Given the description of an element on the screen output the (x, y) to click on. 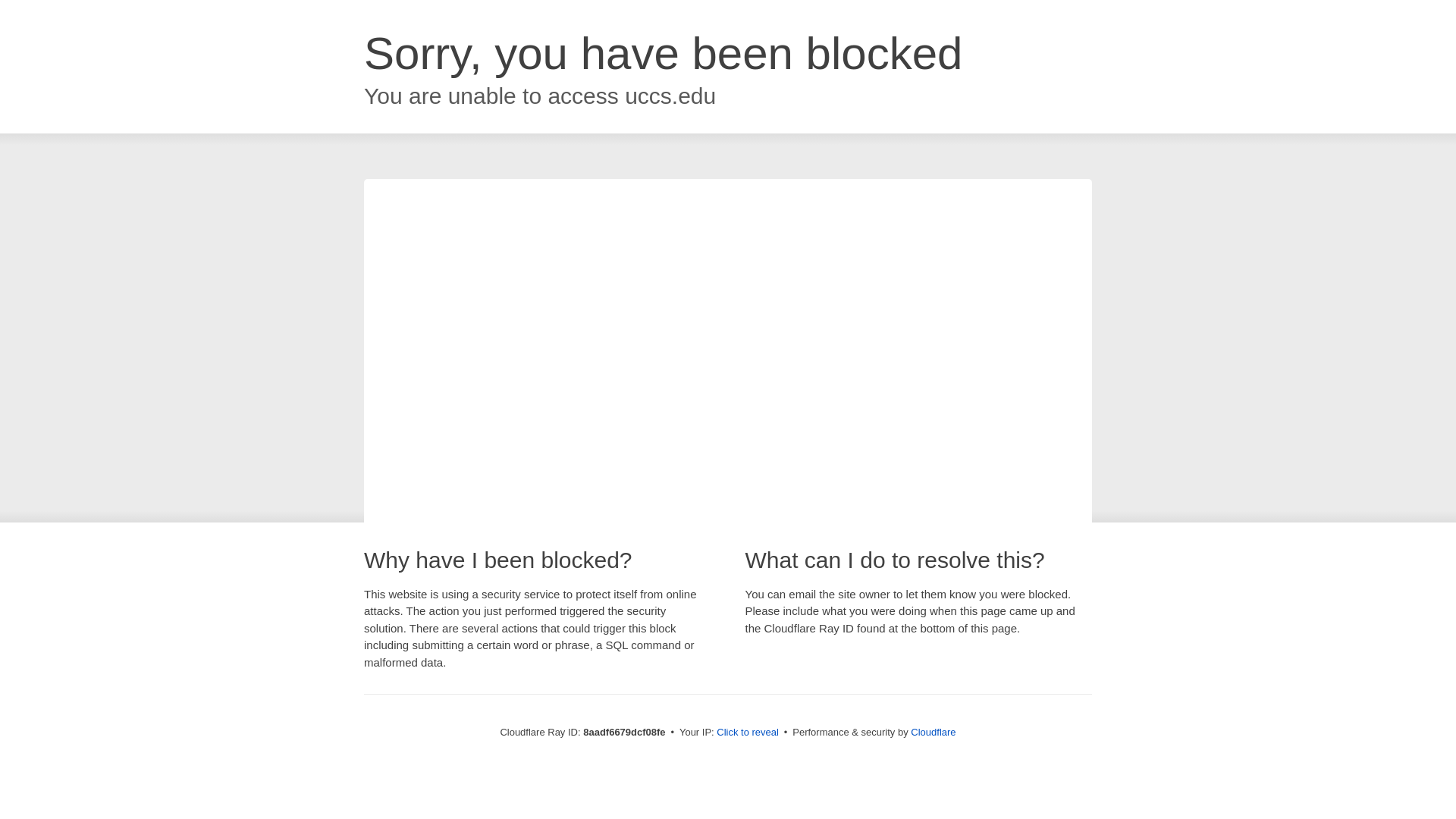
Click to reveal (747, 732)
Cloudflare (933, 731)
